Given the description of an element on the screen output the (x, y) to click on. 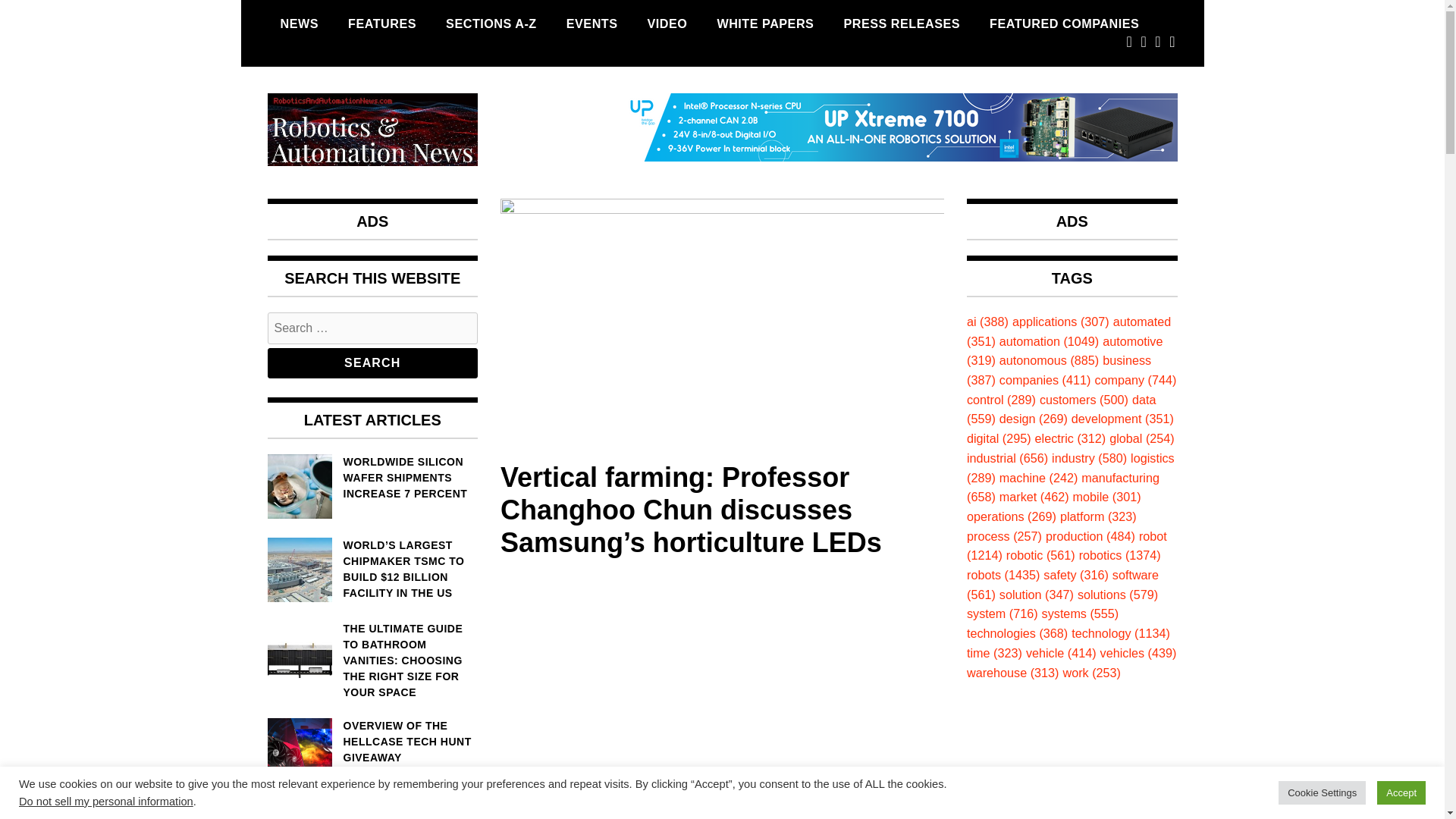
Search (371, 363)
FEATURES (382, 23)
NEWS (298, 23)
Advertisement (721, 679)
Search (371, 363)
SECTIONS A-Z (490, 23)
